Given the description of an element on the screen output the (x, y) to click on. 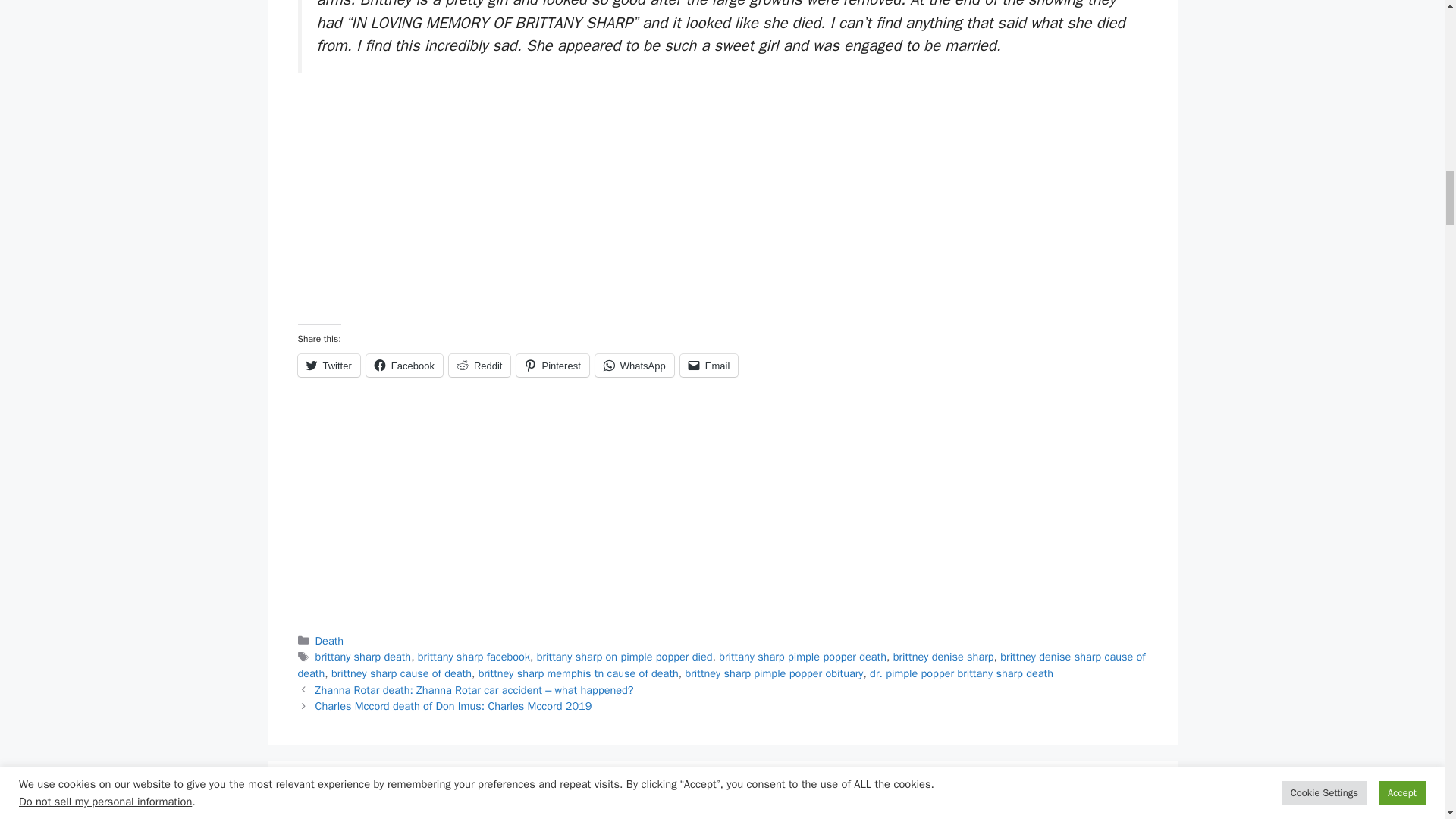
Charles Mccord death of Don Imus: Charles Mccord 2019 (453, 705)
Facebook (404, 364)
brittany sharp pimple popper death (802, 656)
brittney denise sharp (943, 656)
brittney sharp cause of death (401, 673)
Click to email a link to a friend (708, 364)
Email (708, 364)
dr. pimple popper brittany sharp death (960, 673)
brittney sharp pimple popper obituary (773, 673)
Click to share on WhatsApp (634, 364)
brittany sharp on pimple popper died (625, 656)
Death (329, 640)
Reddit (479, 364)
brittany sharp facebook (473, 656)
Click to share on Pinterest (552, 364)
